Given the description of an element on the screen output the (x, y) to click on. 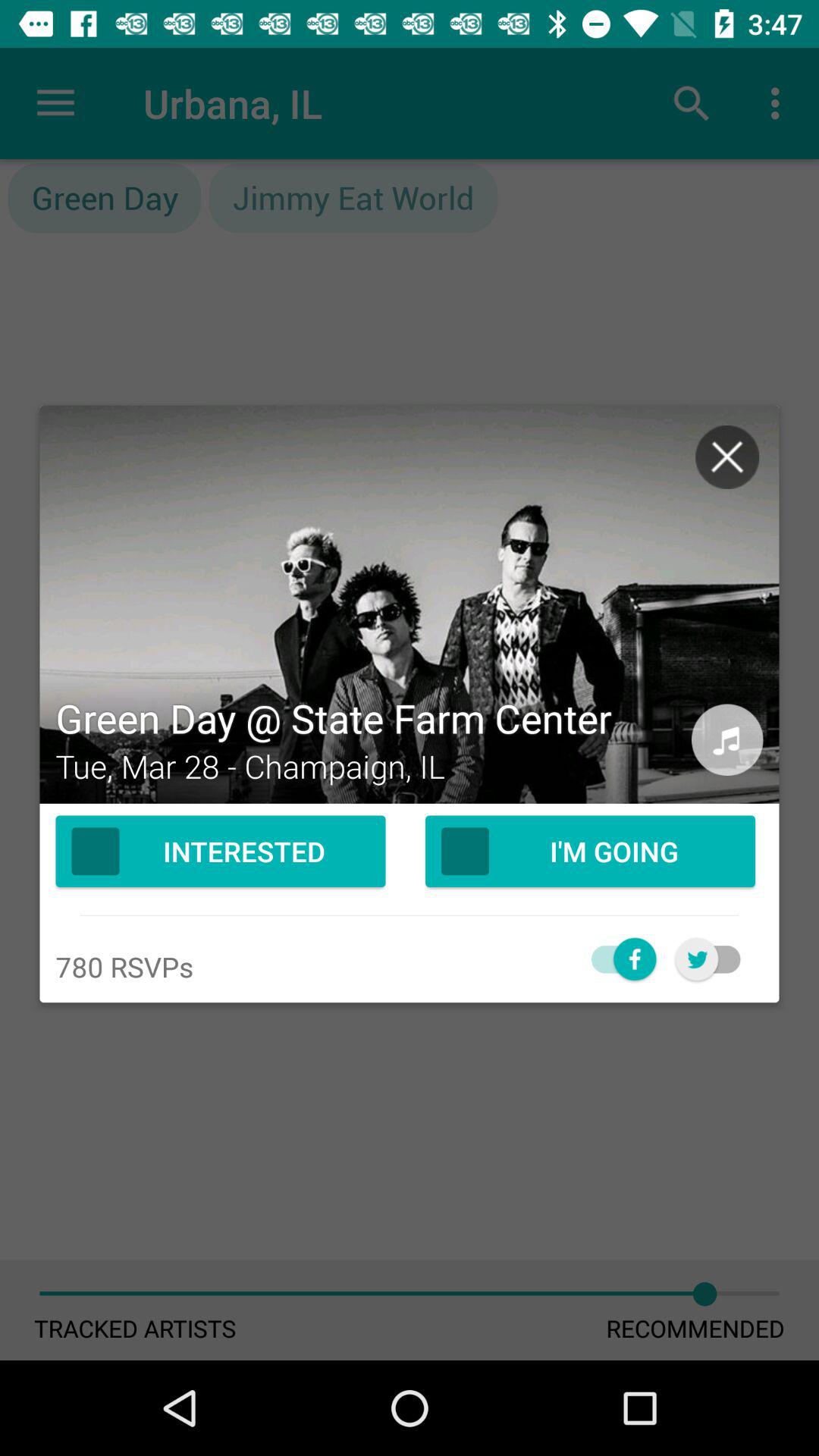
play the audio (727, 739)
